Given the description of an element on the screen output the (x, y) to click on. 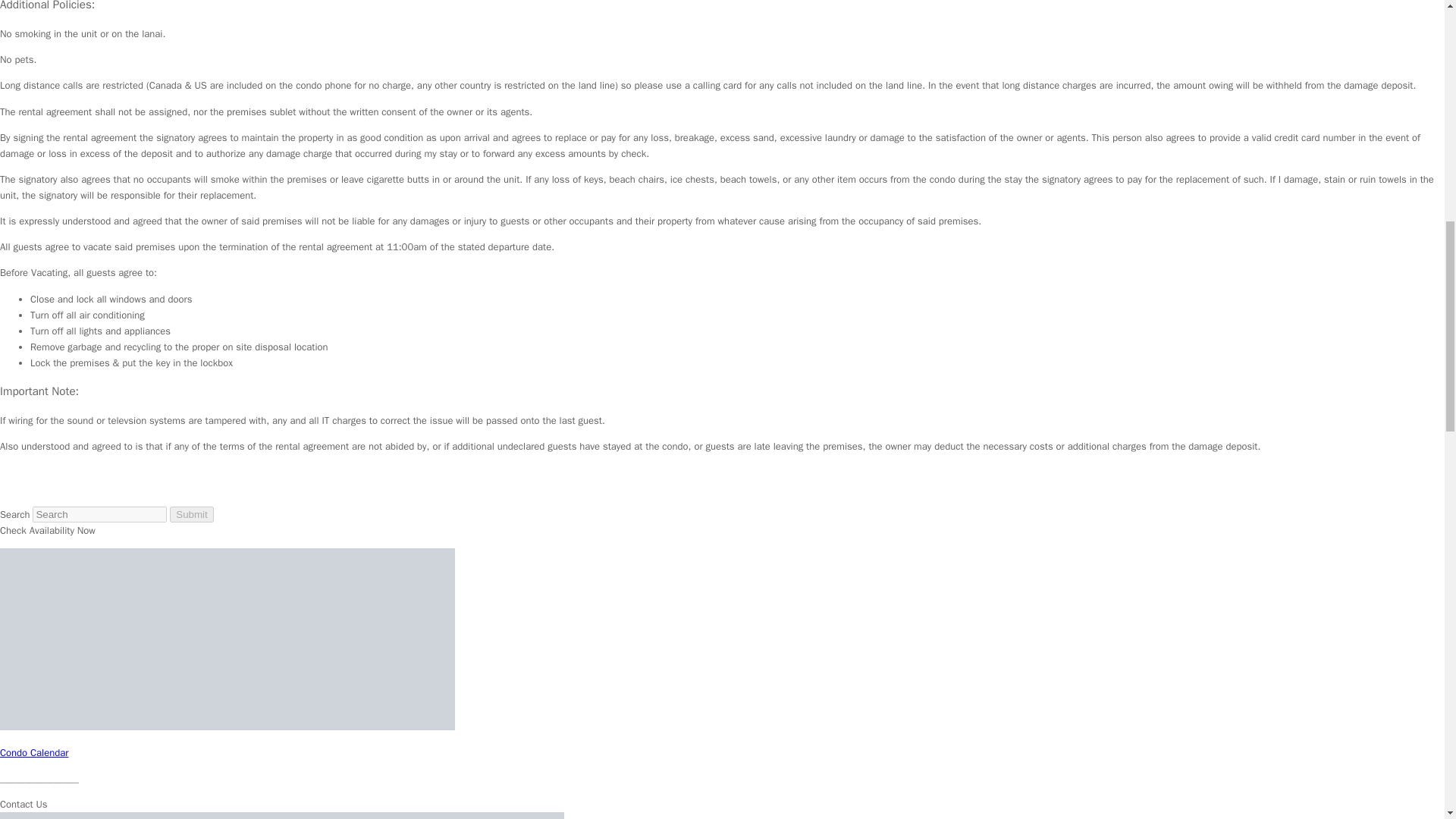
Condo Calendar (34, 752)
Submit (191, 514)
